Given the description of an element on the screen output the (x, y) to click on. 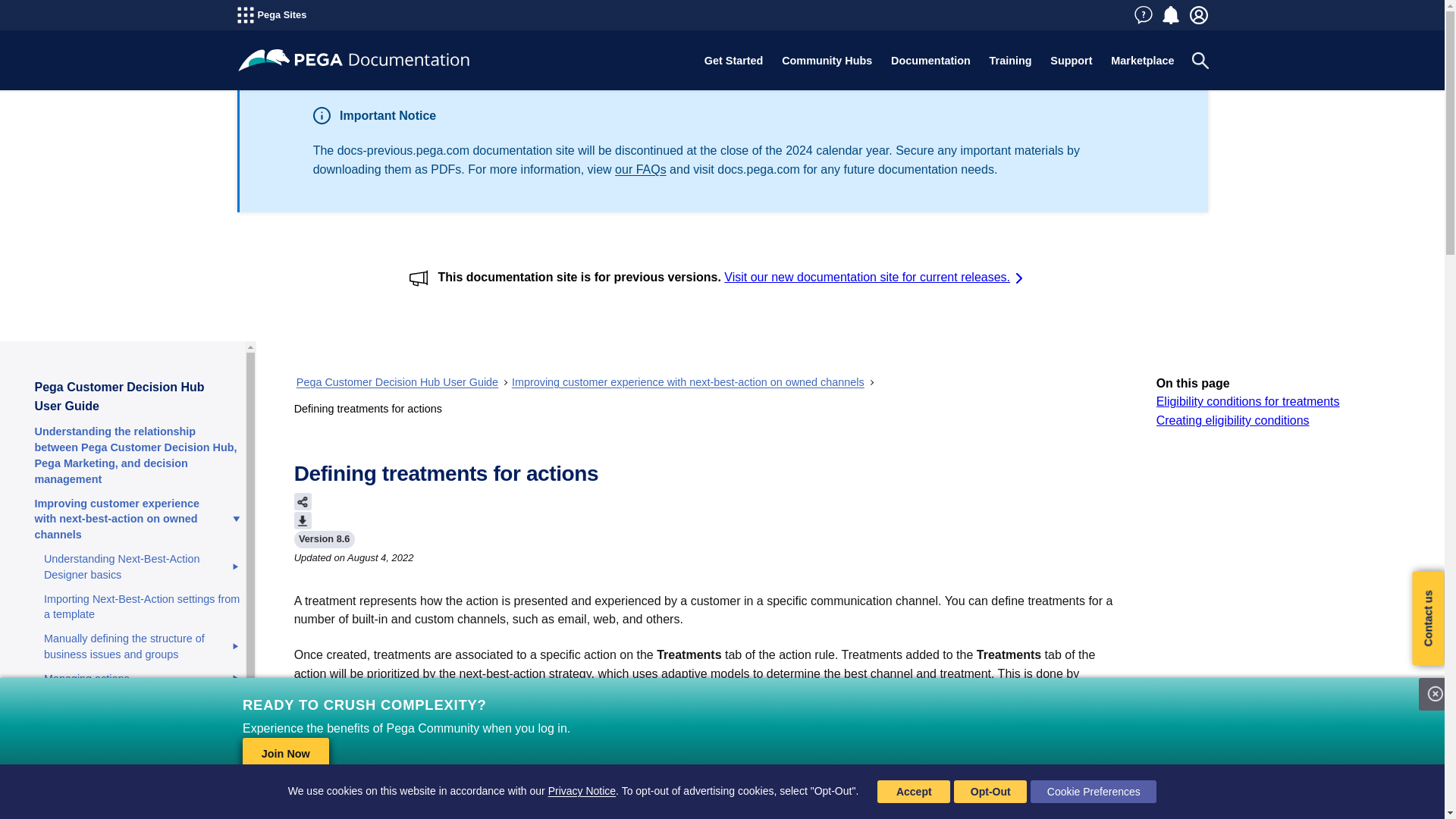
Get Started (732, 60)
Community Hubs (827, 60)
Toggle Search Panel (1200, 60)
